Given the description of an element on the screen output the (x, y) to click on. 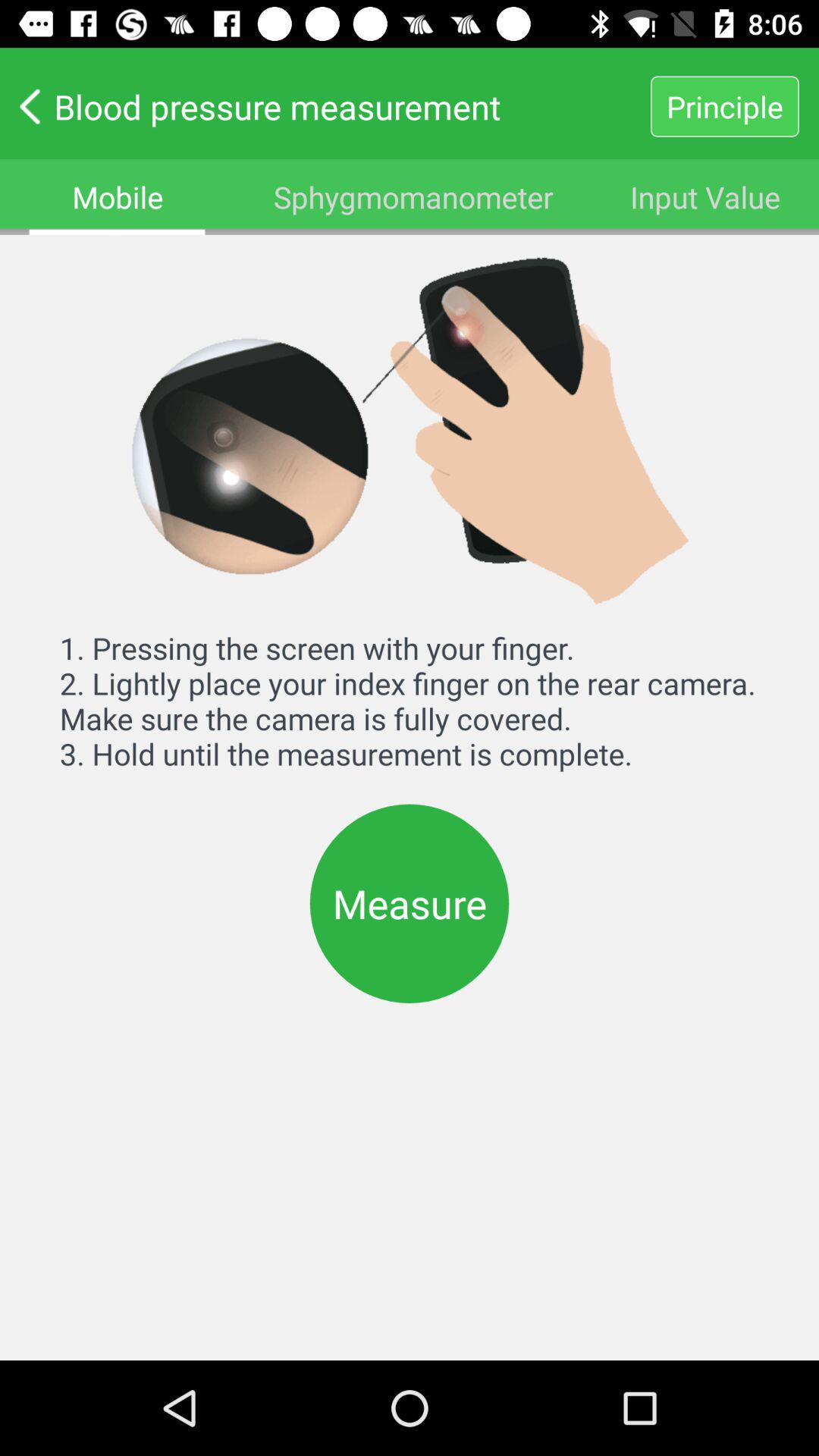
launch the icon next to the sphygmomanometer (705, 196)
